Given the description of an element on the screen output the (x, y) to click on. 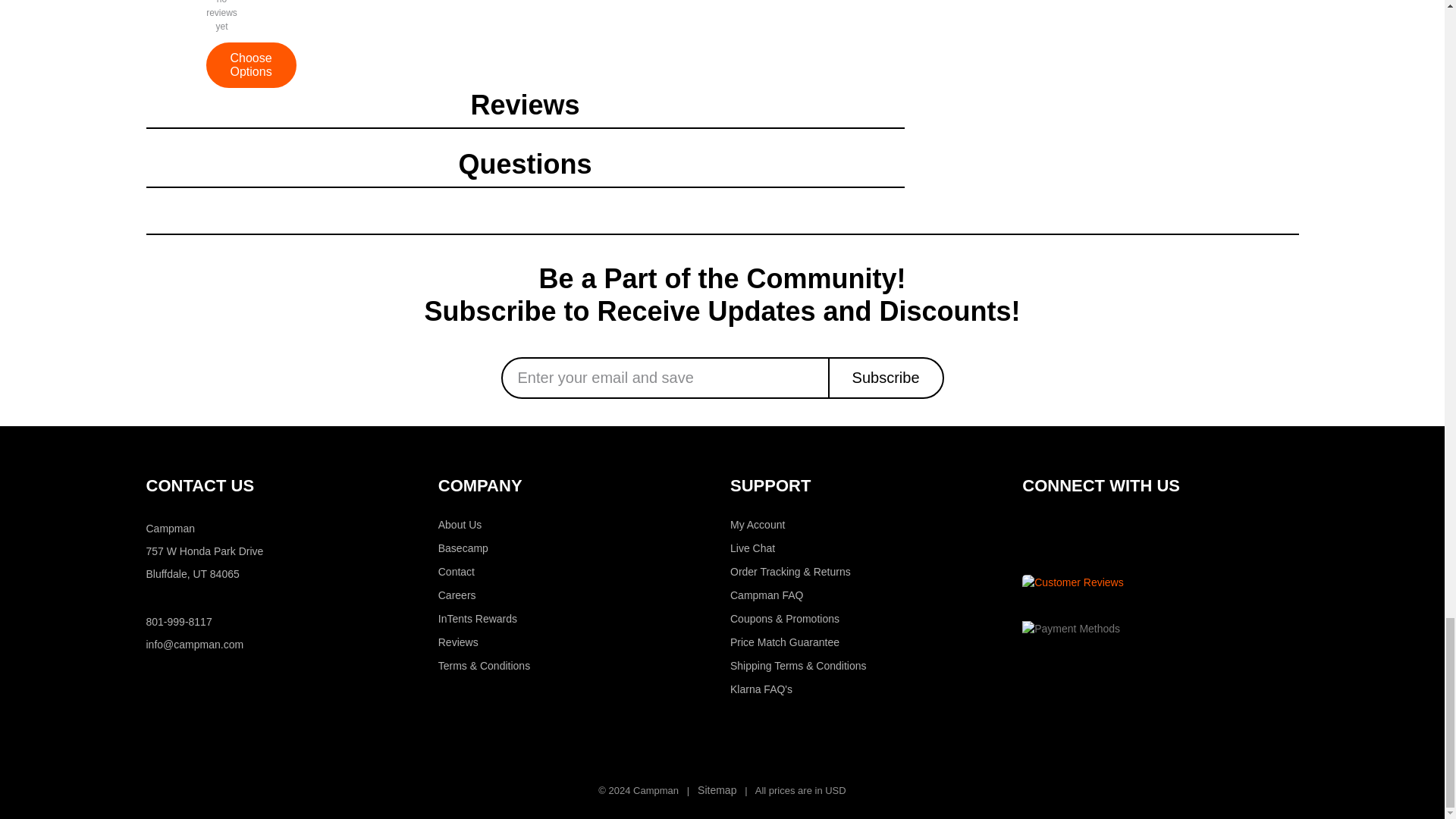
Subscribe (885, 377)
